Given the description of an element on the screen output the (x, y) to click on. 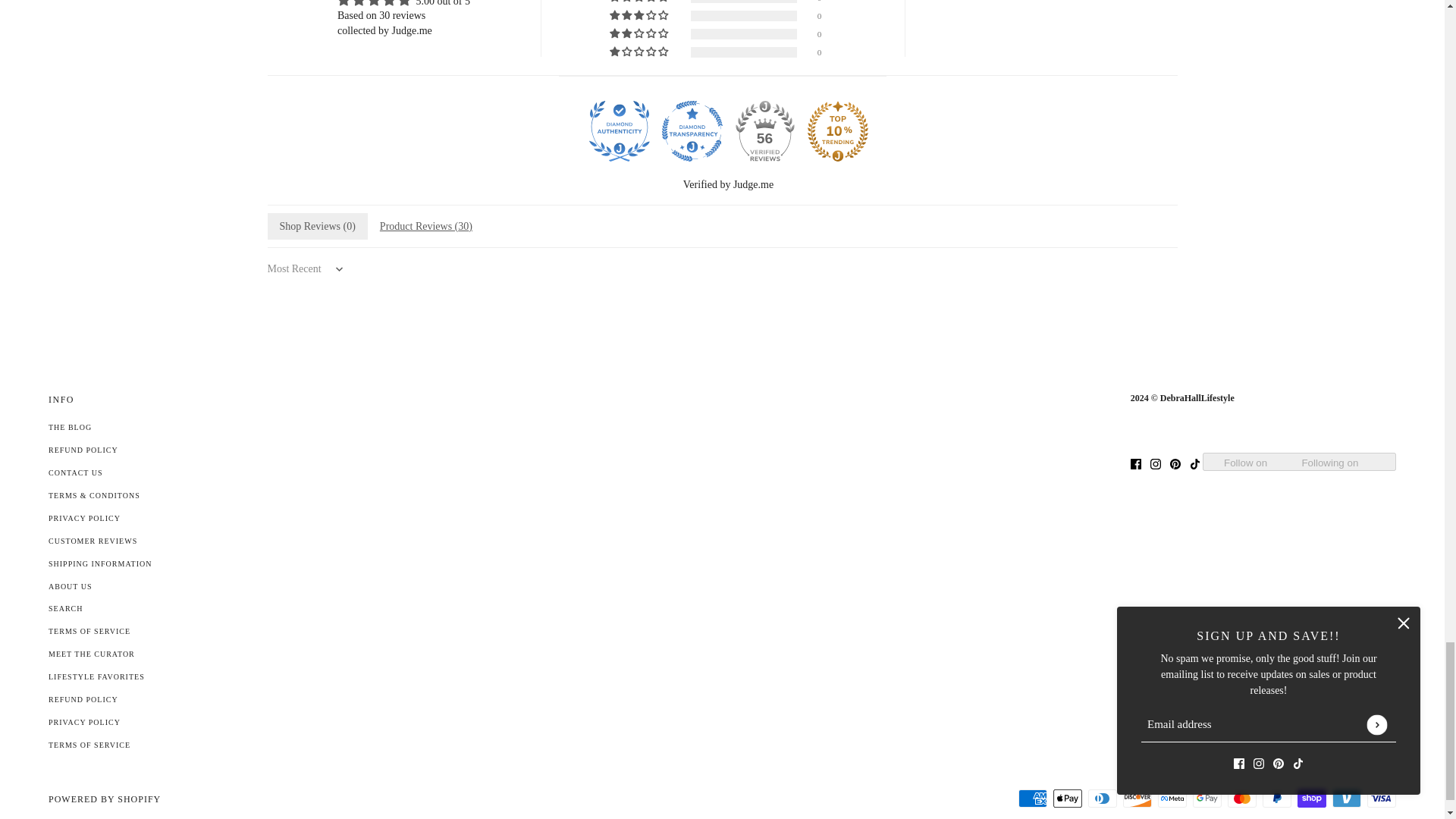
Contact Us (75, 472)
Privacy Policy (84, 518)
About Us (70, 586)
Lifestyle Favorites (96, 676)
Refund policy (82, 699)
Terms of Service (89, 631)
Shipping Information (99, 563)
Terms of service (89, 745)
Customer Reviews (92, 541)
The Blog (69, 427)
Refund policy (82, 449)
Meet The Curator (91, 654)
Privacy policy (84, 722)
